Given the description of an element on the screen output the (x, y) to click on. 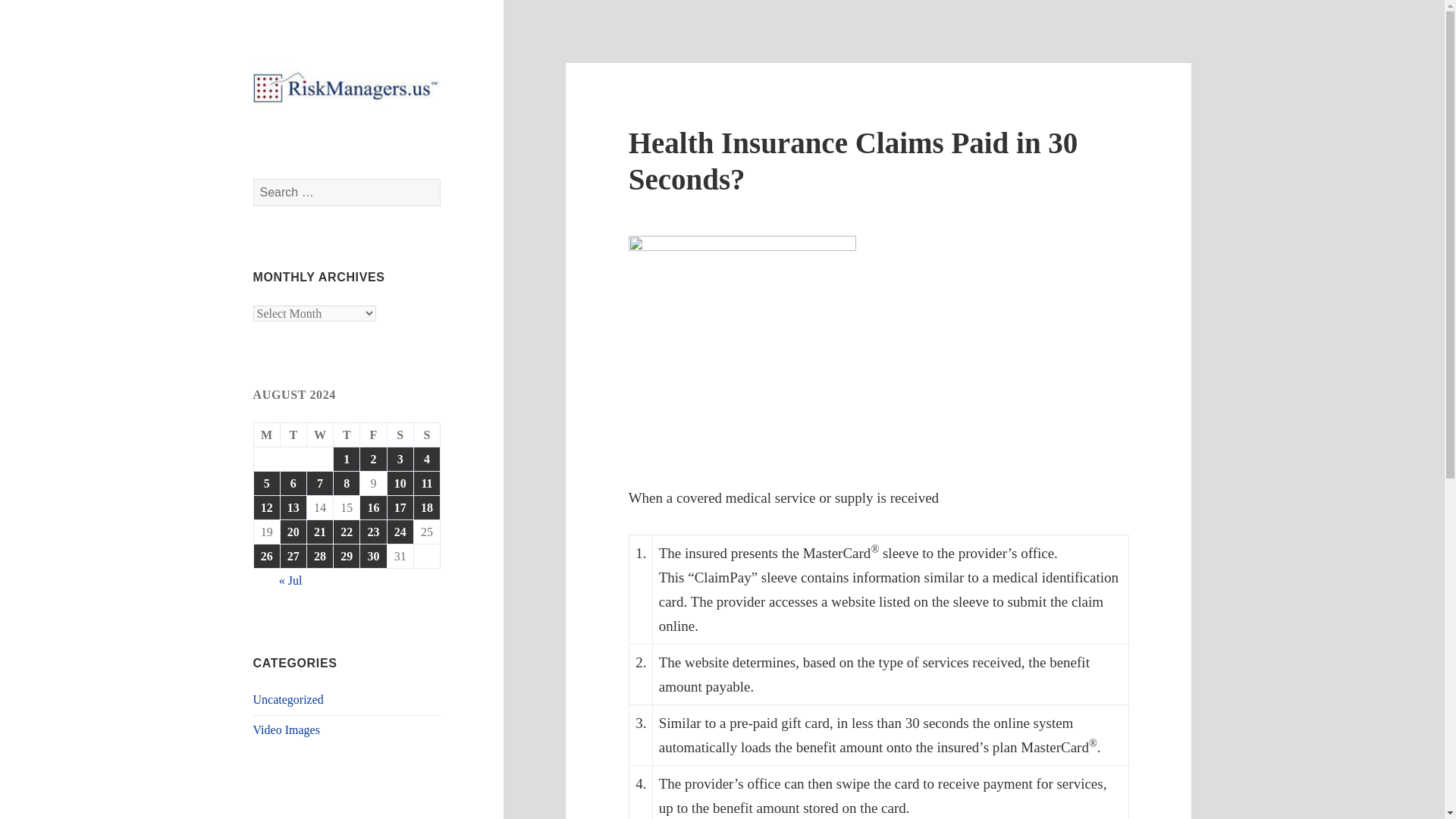
30 (372, 556)
5 (266, 483)
21 (320, 531)
Tuesday (294, 435)
16 (372, 507)
1 (346, 458)
Uncategorized (288, 698)
12 (266, 507)
